Given the description of an element on the screen output the (x, y) to click on. 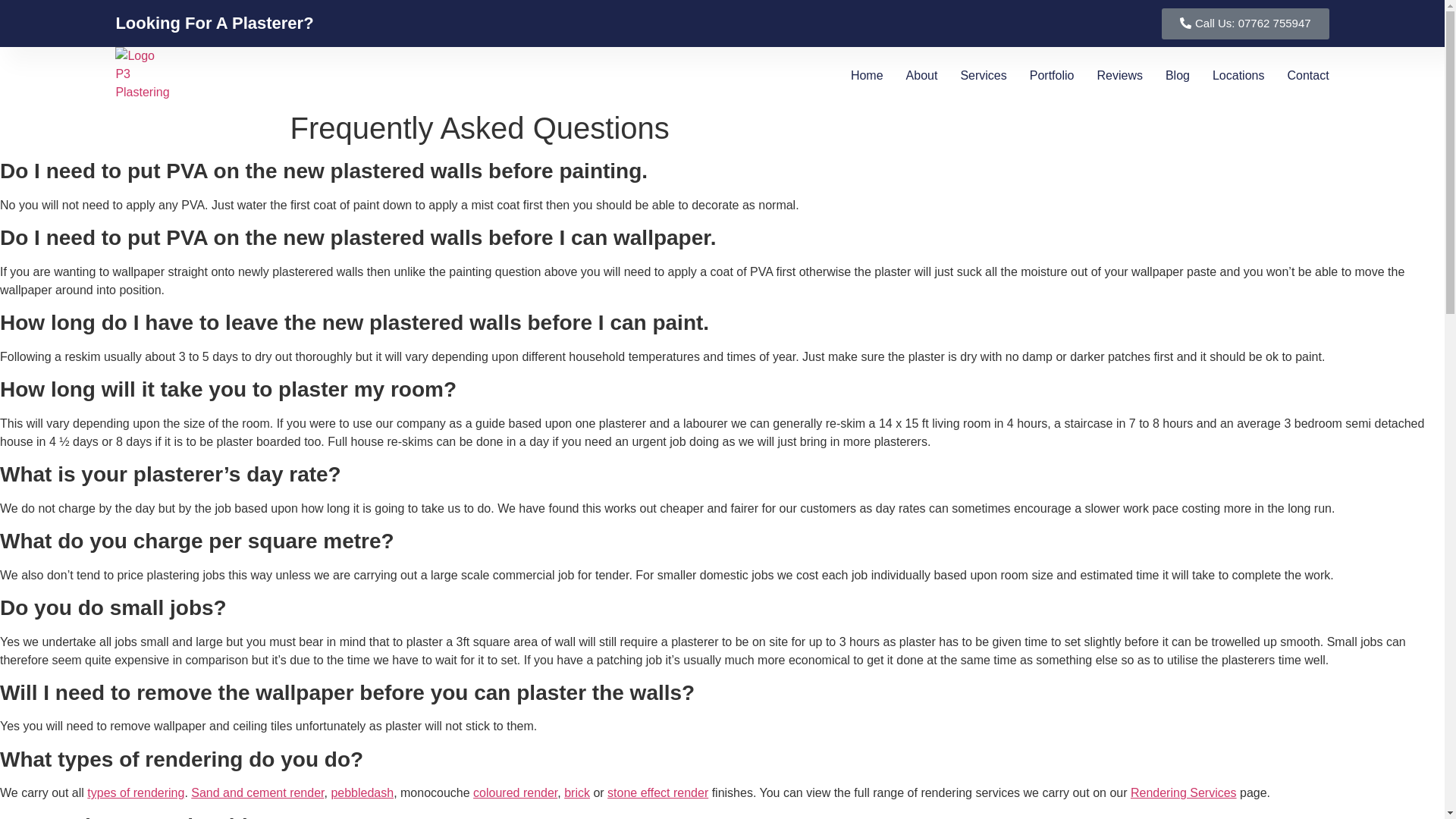
Blog (1177, 75)
Services (982, 75)
Call Us: 07762 755947 (1245, 22)
Reviews (1118, 75)
Home (866, 75)
About (921, 75)
Locations (1238, 75)
Logo-P3Plastering - P3 Plastering (143, 74)
Portfolio (1051, 75)
